Given the description of an element on the screen output the (x, y) to click on. 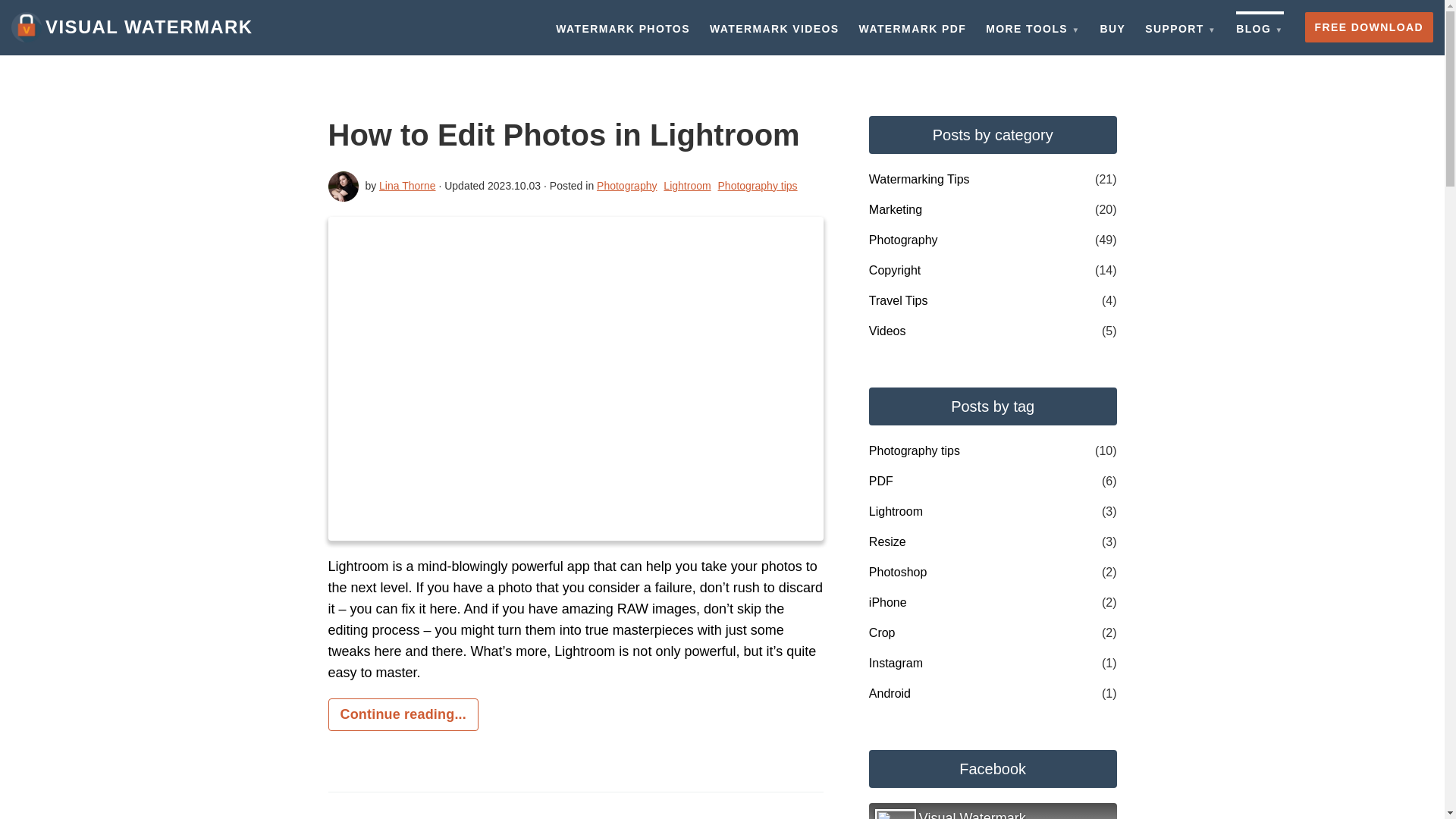
BUY (1112, 27)
WATERMARK VIDEOS (774, 27)
FREE DOWNLOAD (1368, 27)
WATERMARK PHOTOS (623, 27)
WATERMARK PDF (912, 27)
VISUAL WATERMARK (132, 27)
